Given the description of an element on the screen output the (x, y) to click on. 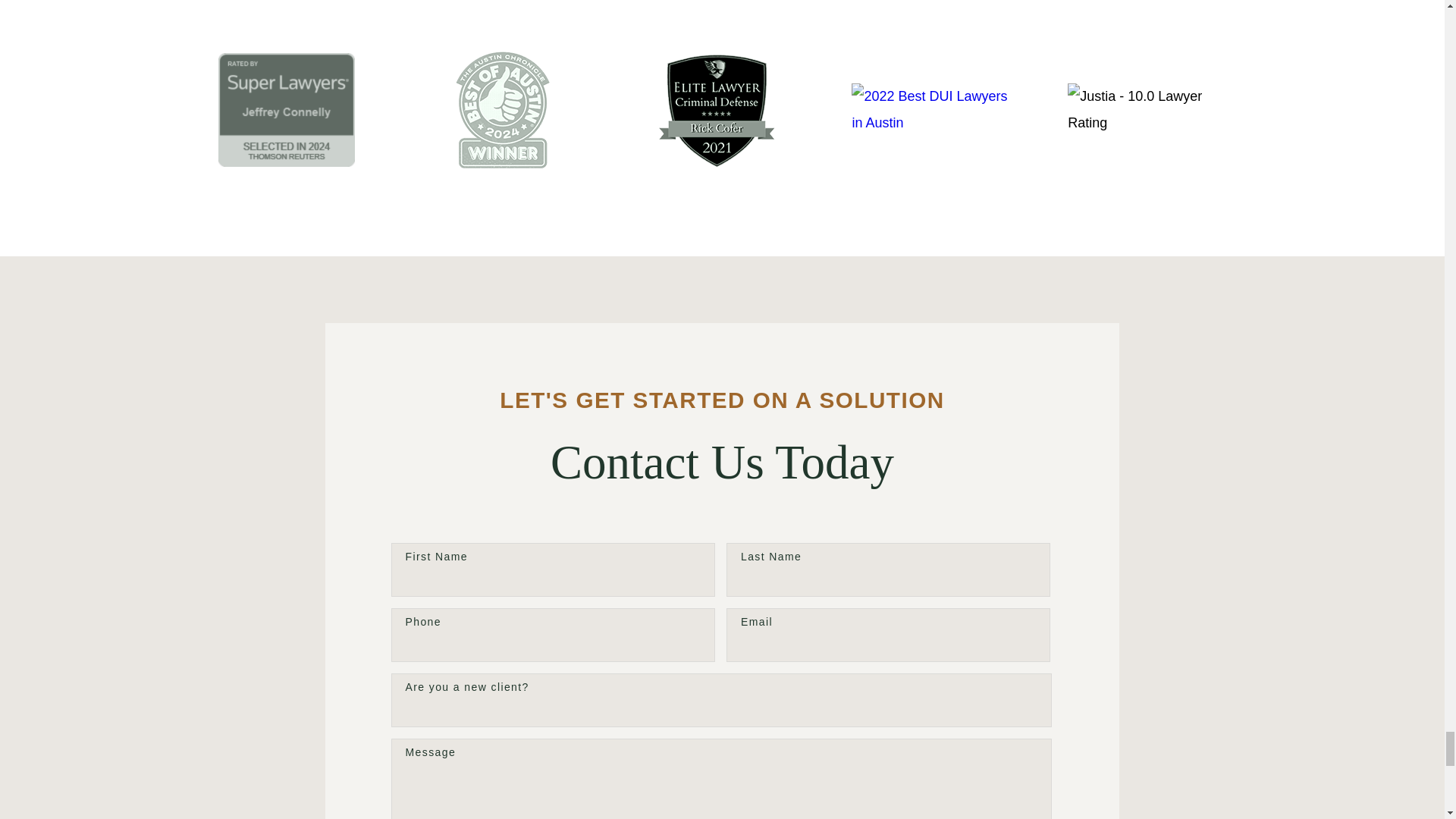
Justia - 10.0 Lawyer Rating (1150, 109)
2022 Best DUI Lawyers in Austin (933, 109)
Super Lawyer 2024 (286, 110)
